Given the description of an element on the screen output the (x, y) to click on. 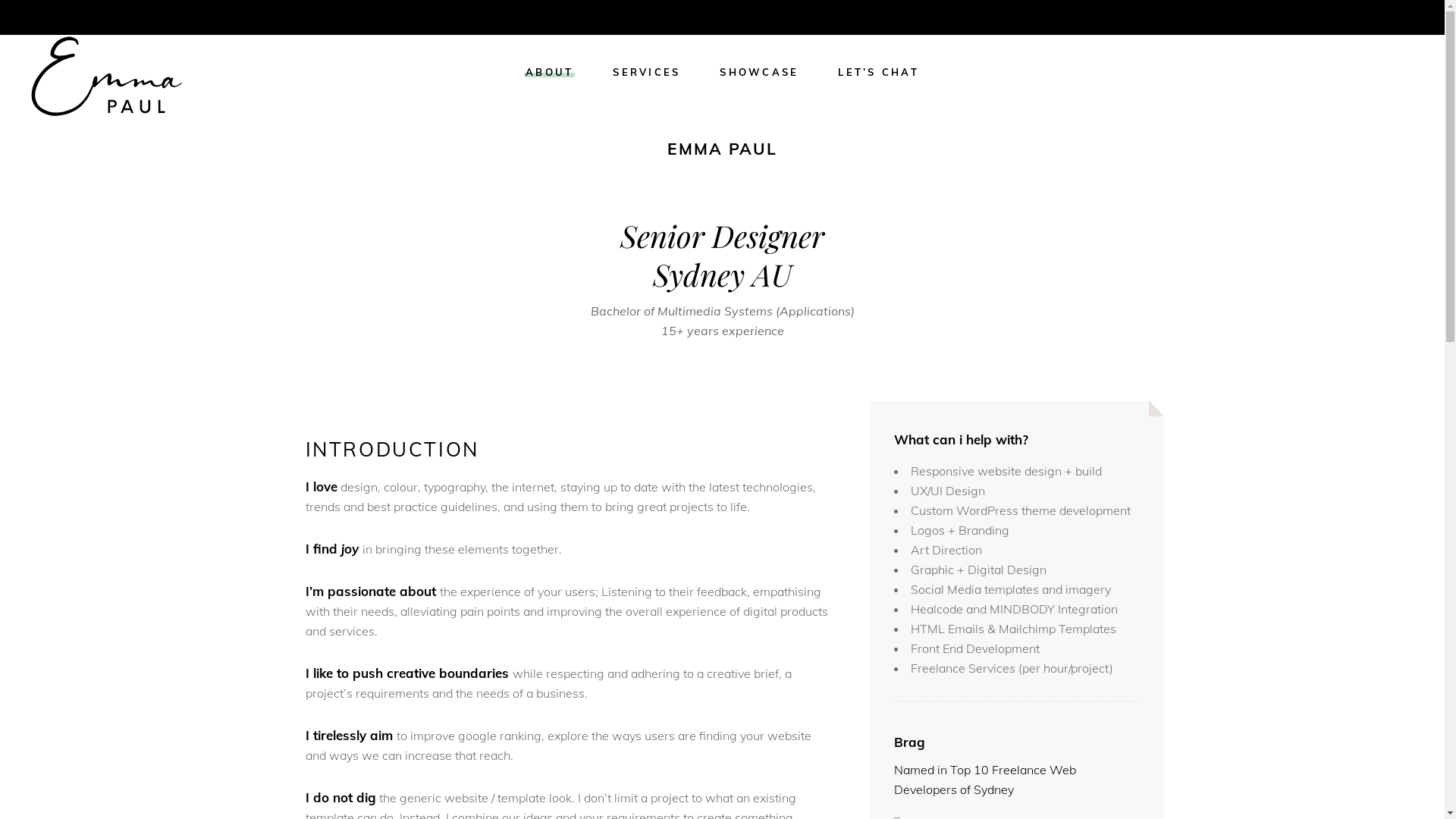
SERVICES Element type: text (646, 72)
ABOUT Element type: text (549, 72)
Named in Top 10 Freelance Web Developers of Sydney Element type: text (985, 779)
SHOWCASE Element type: text (758, 72)
